Given the description of an element on the screen output the (x, y) to click on. 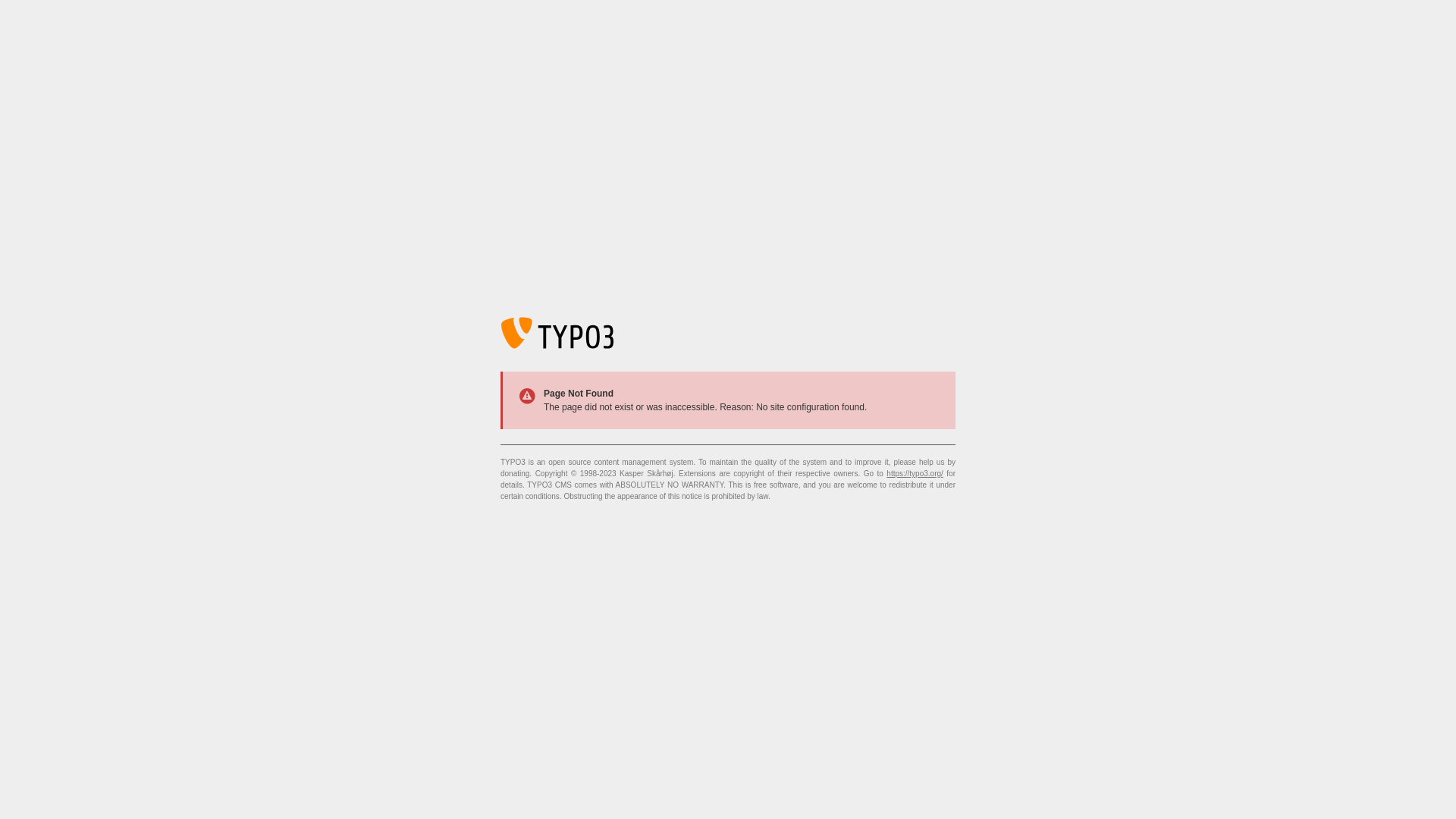
https://typo3.org/ Element type: text (914, 473)
